Given the description of an element on the screen output the (x, y) to click on. 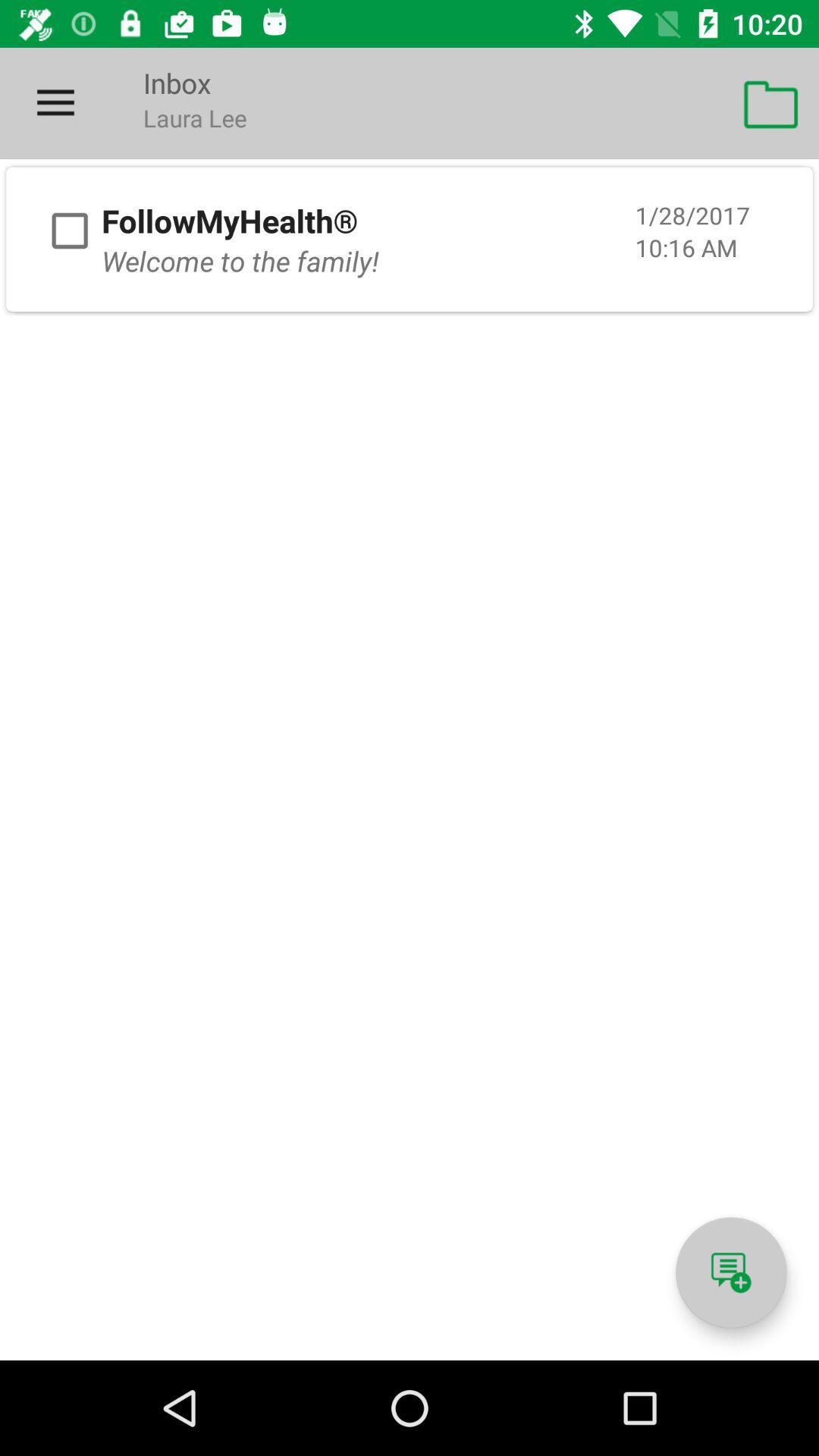
click icon above 1/28/2017 item (771, 103)
